Given the description of an element on the screen output the (x, y) to click on. 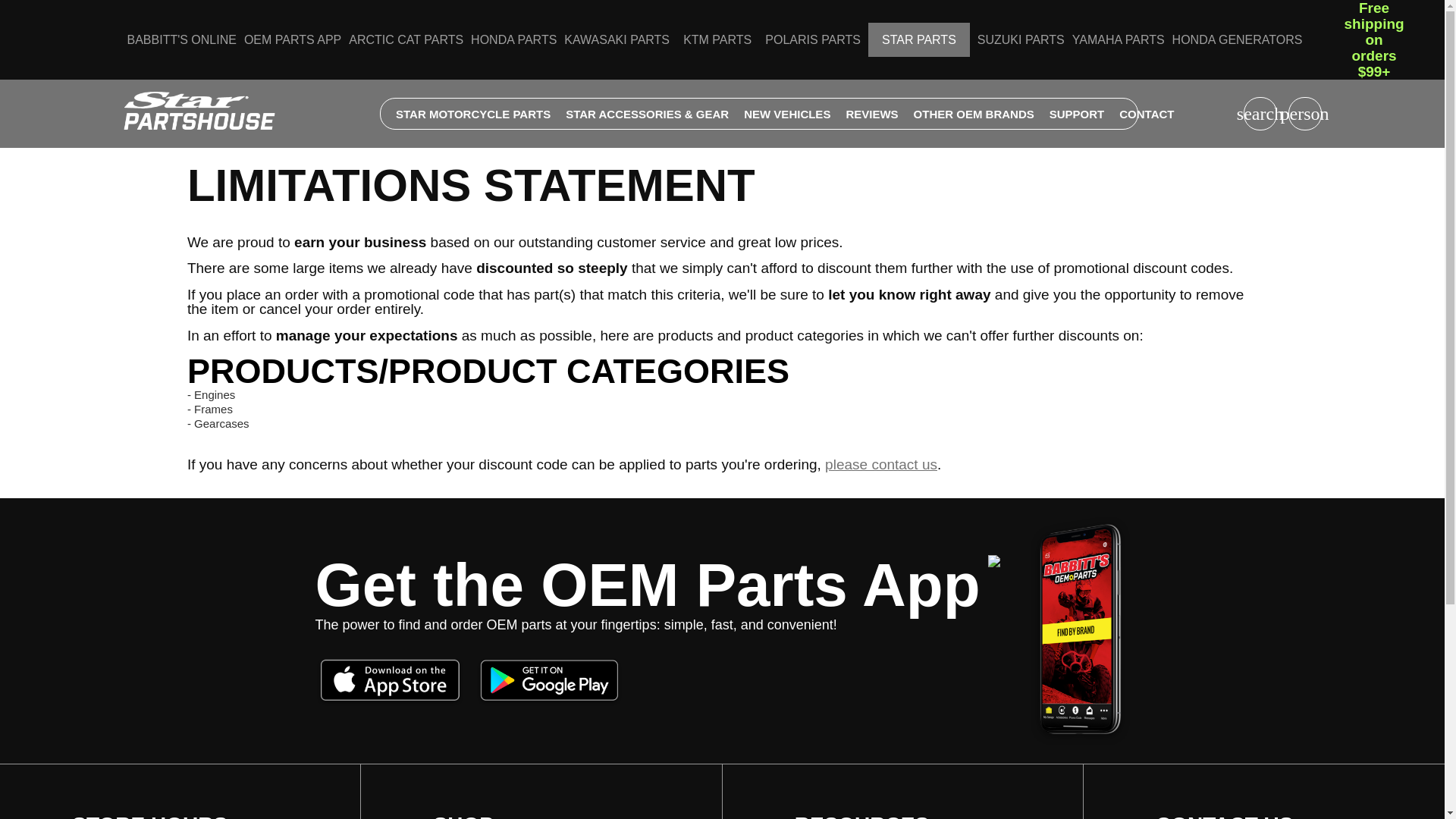
SUZUKI PARTS (1020, 39)
YAMAHA PARTS (1117, 39)
KAWASAKI PARTS (616, 39)
OEM PARTS APP (292, 39)
BABBITT'S ONLINE (181, 39)
POLARIS PARTS (812, 39)
OTHER OEM BRANDS (973, 113)
NEW VEHICLES (787, 113)
KTM PARTS (716, 39)
STAR MOTORCYCLE PARTS (472, 113)
